Given the description of an element on the screen output the (x, y) to click on. 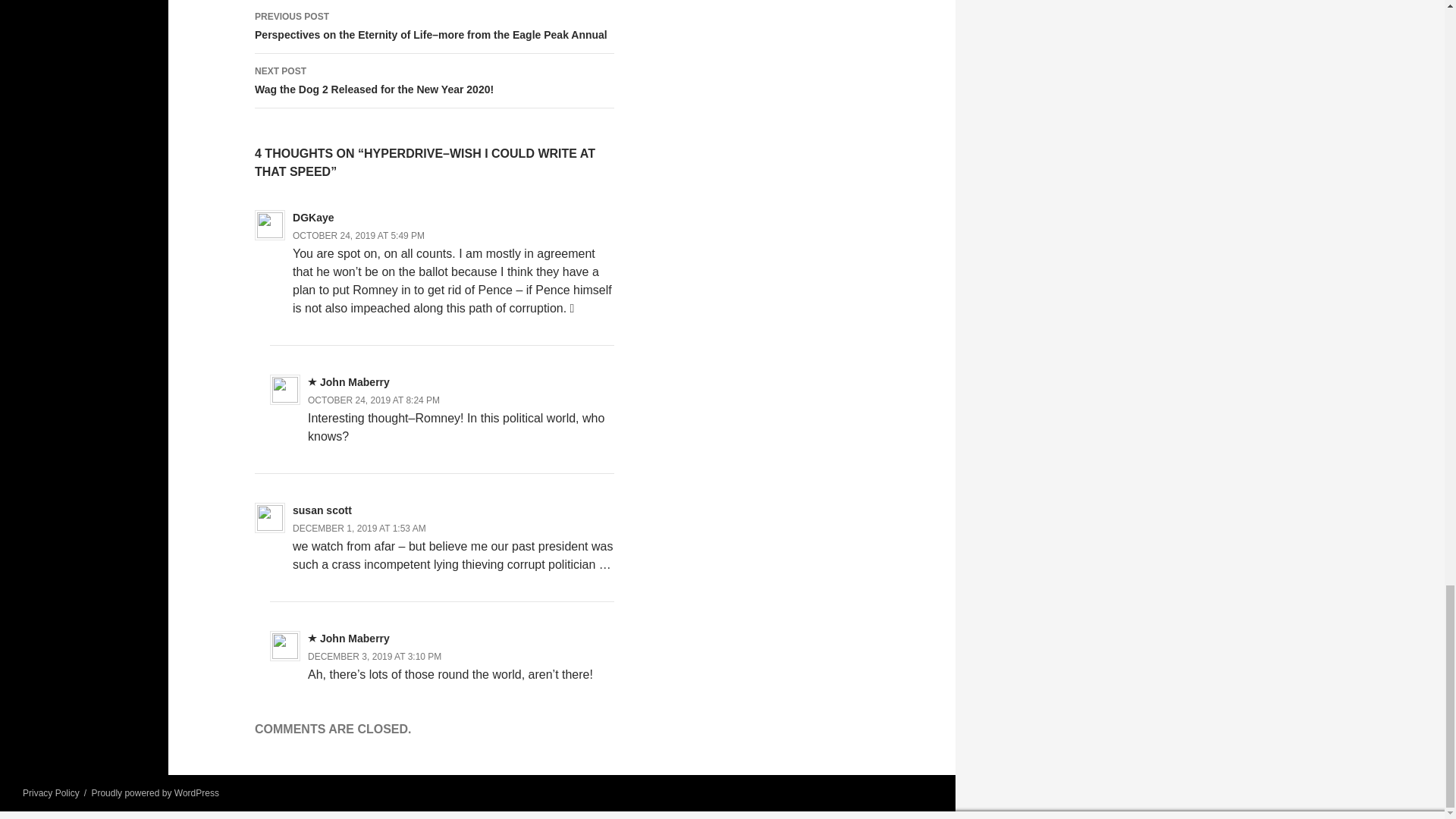
John Maberry (355, 381)
John Maberry (355, 638)
susan scott (322, 510)
OCTOBER 24, 2019 AT 8:24 PM (373, 399)
DGKaye (312, 217)
OCTOBER 24, 2019 AT 5:49 PM (358, 235)
DECEMBER 1, 2019 AT 1:53 AM (434, 81)
DECEMBER 3, 2019 AT 3:10 PM (359, 528)
